Given the description of an element on the screen output the (x, y) to click on. 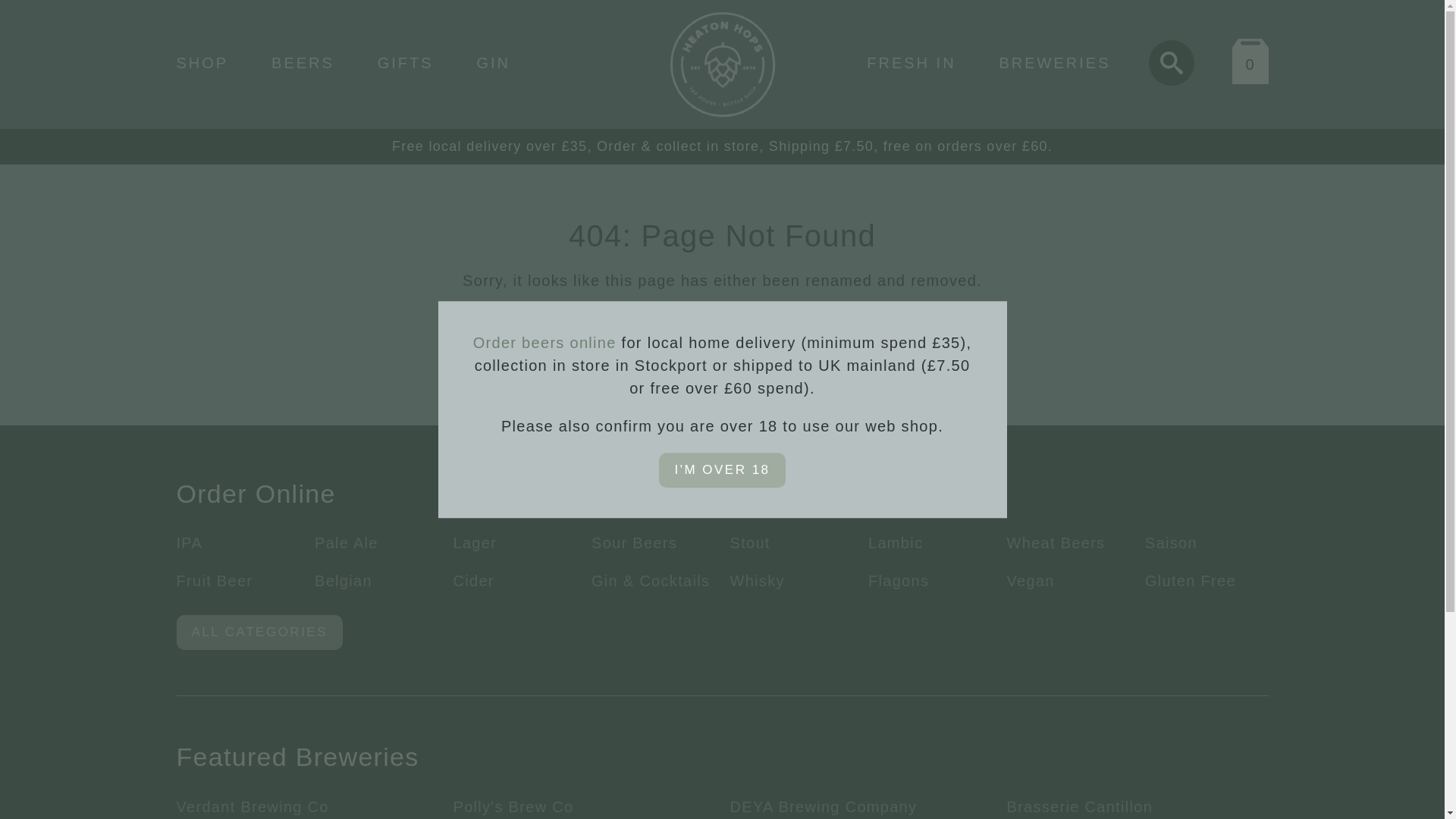
Vegan (1030, 580)
IPA (189, 542)
Stout (749, 542)
Lambic (895, 542)
Sour Beers (634, 542)
SHOP (202, 62)
GIN (493, 62)
RETURN TO HOME PAGE (721, 324)
Cider (473, 580)
Saison (1170, 542)
